Given the description of an element on the screen output the (x, y) to click on. 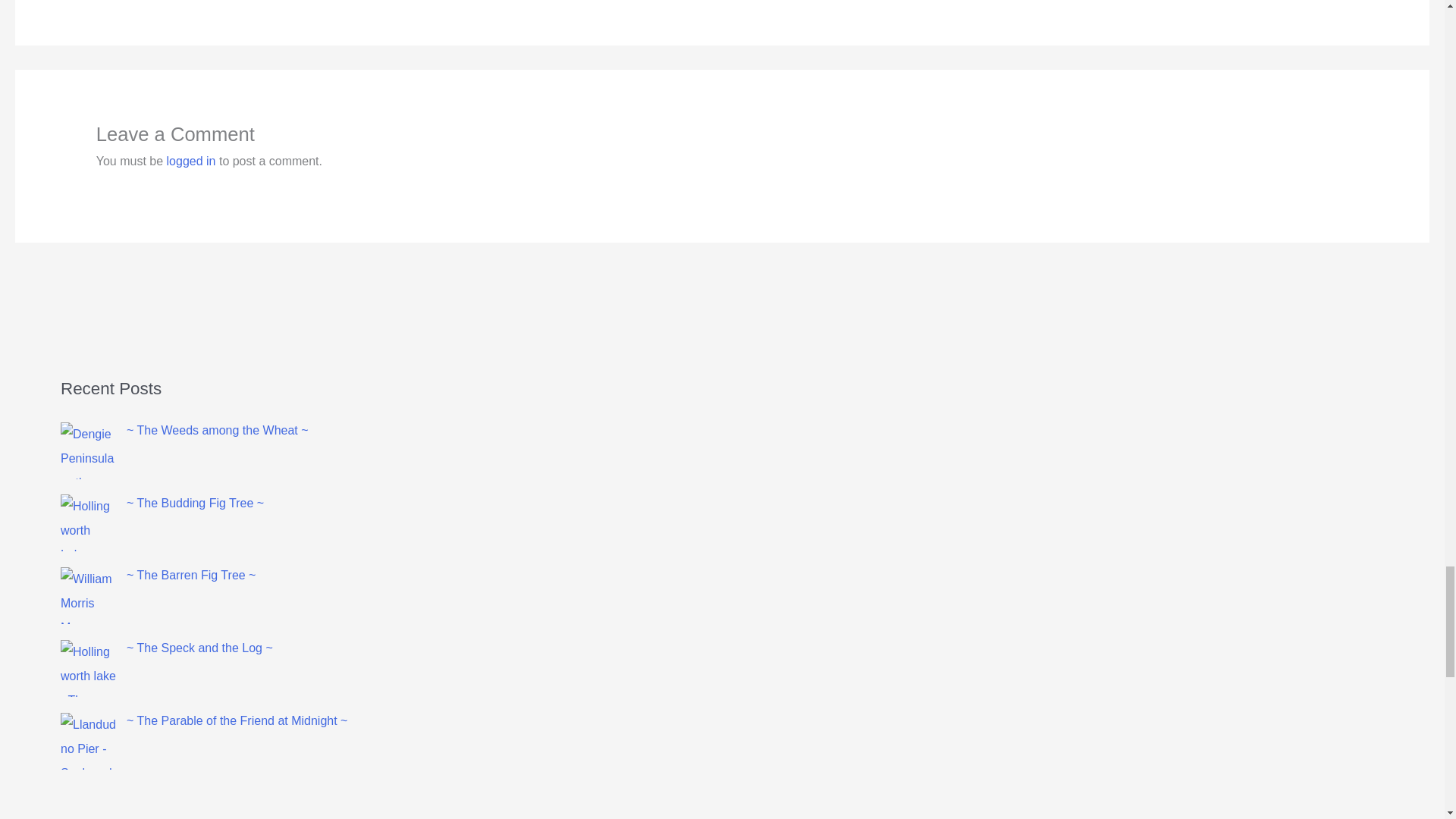
logged in (191, 160)
